Given the description of an element on the screen output the (x, y) to click on. 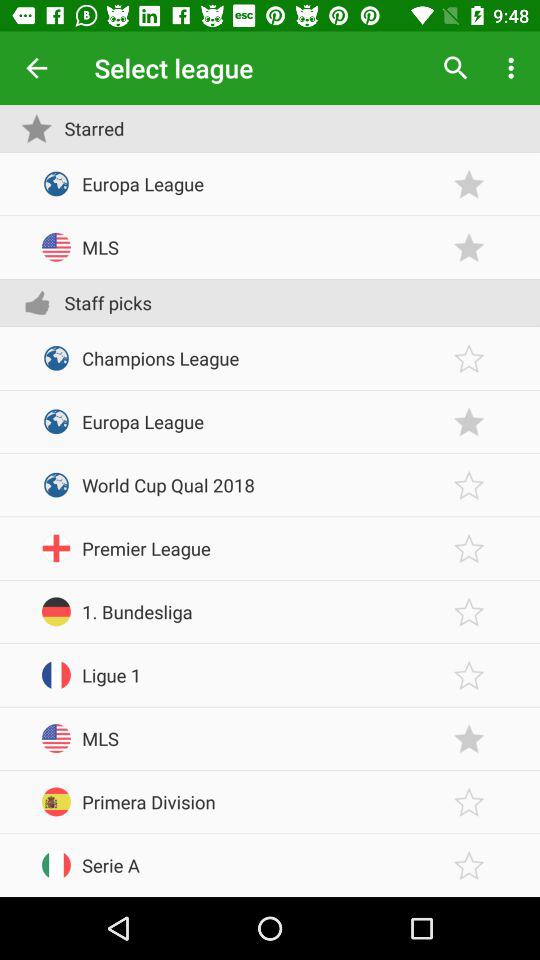
add to favorites (469, 247)
